Given the description of an element on the screen output the (x, y) to click on. 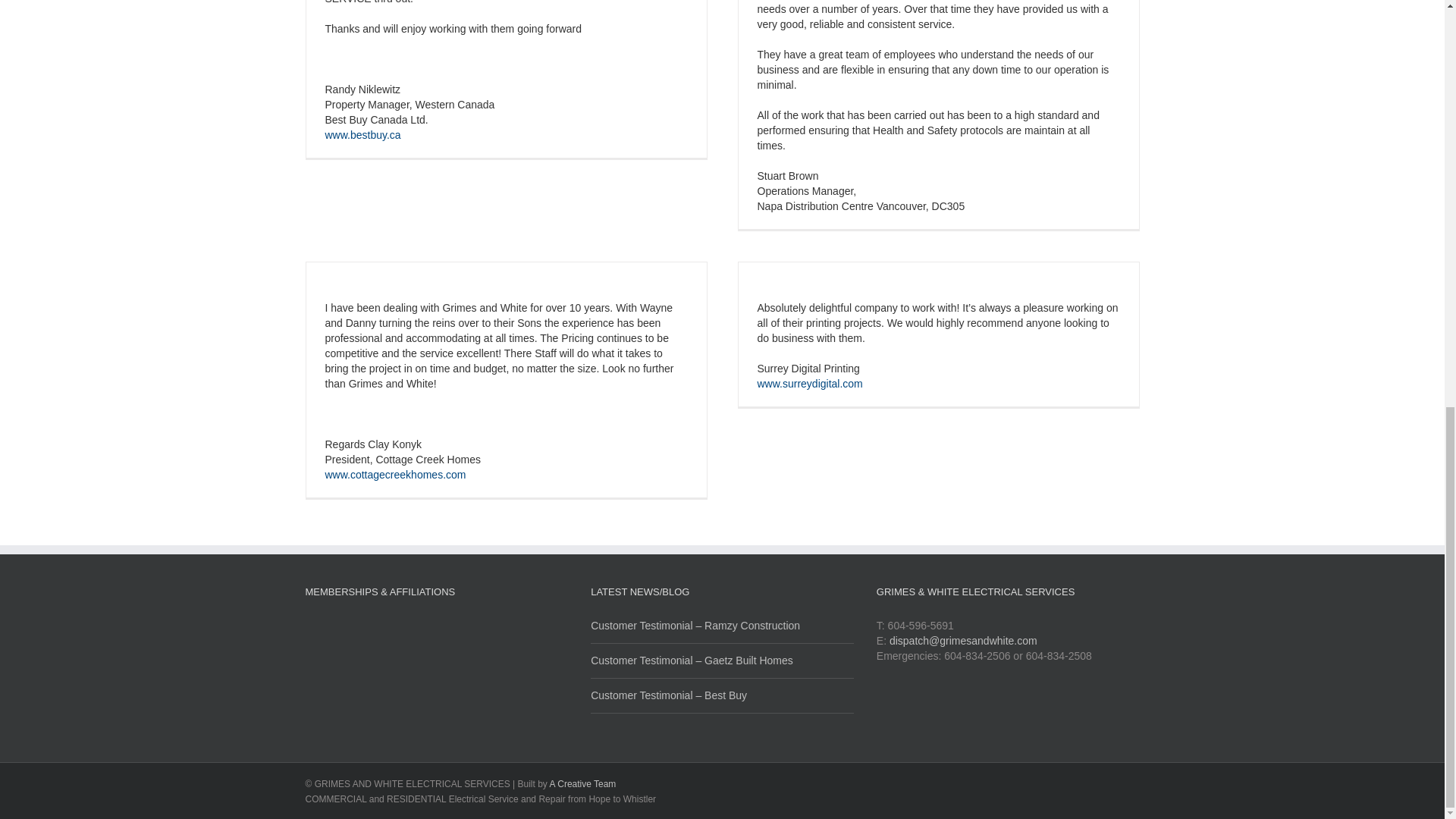
www.bestbuy.ca (362, 134)
www.cottagecreekhomes.com (394, 474)
www.surreydigital.com (809, 383)
A Creative Team (582, 783)
